Given the description of an element on the screen output the (x, y) to click on. 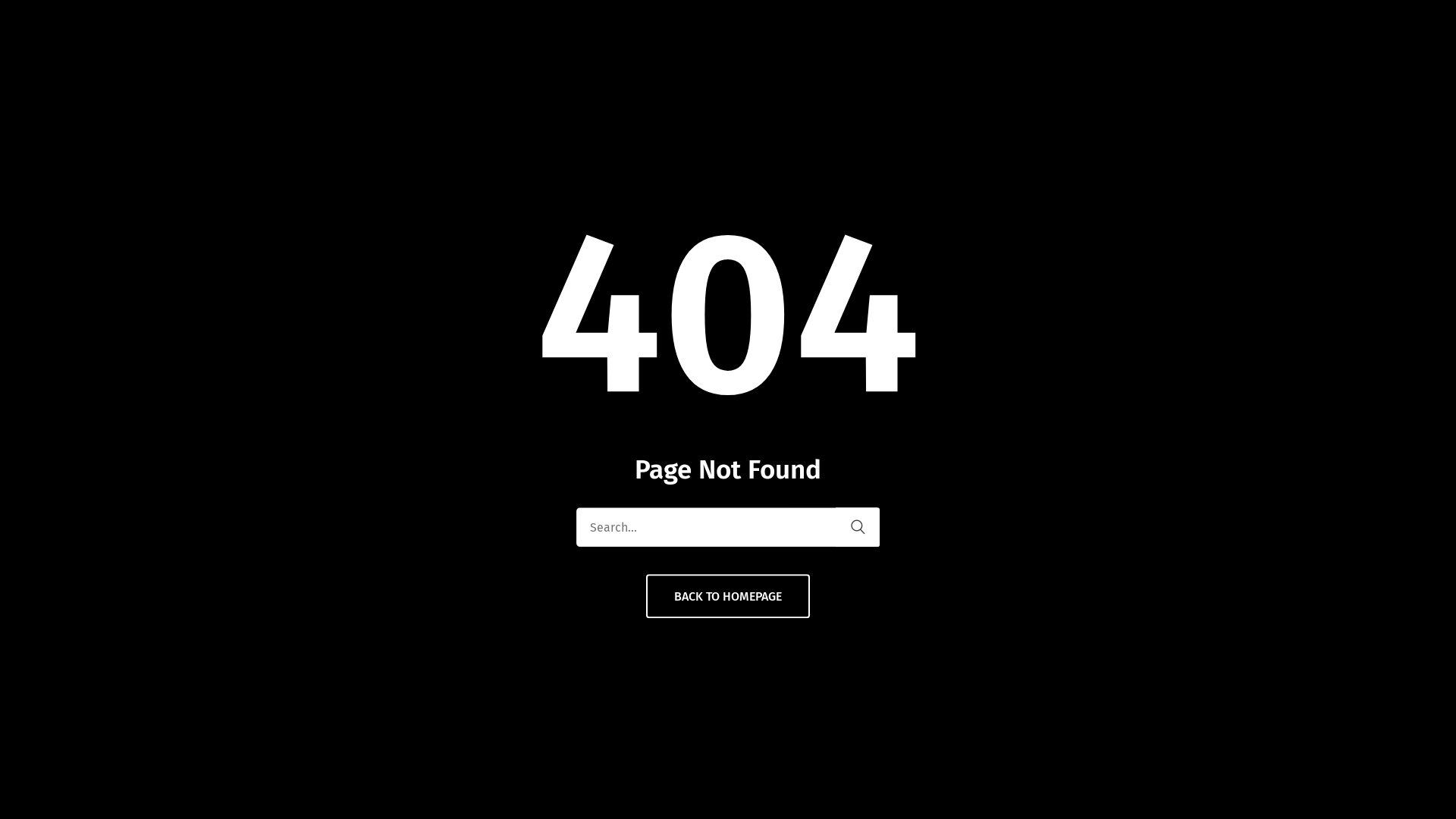
Search Element type: text (857, 526)
BACK TO HOMEPAGE Element type: text (727, 596)
